Given the description of an element on the screen output the (x, y) to click on. 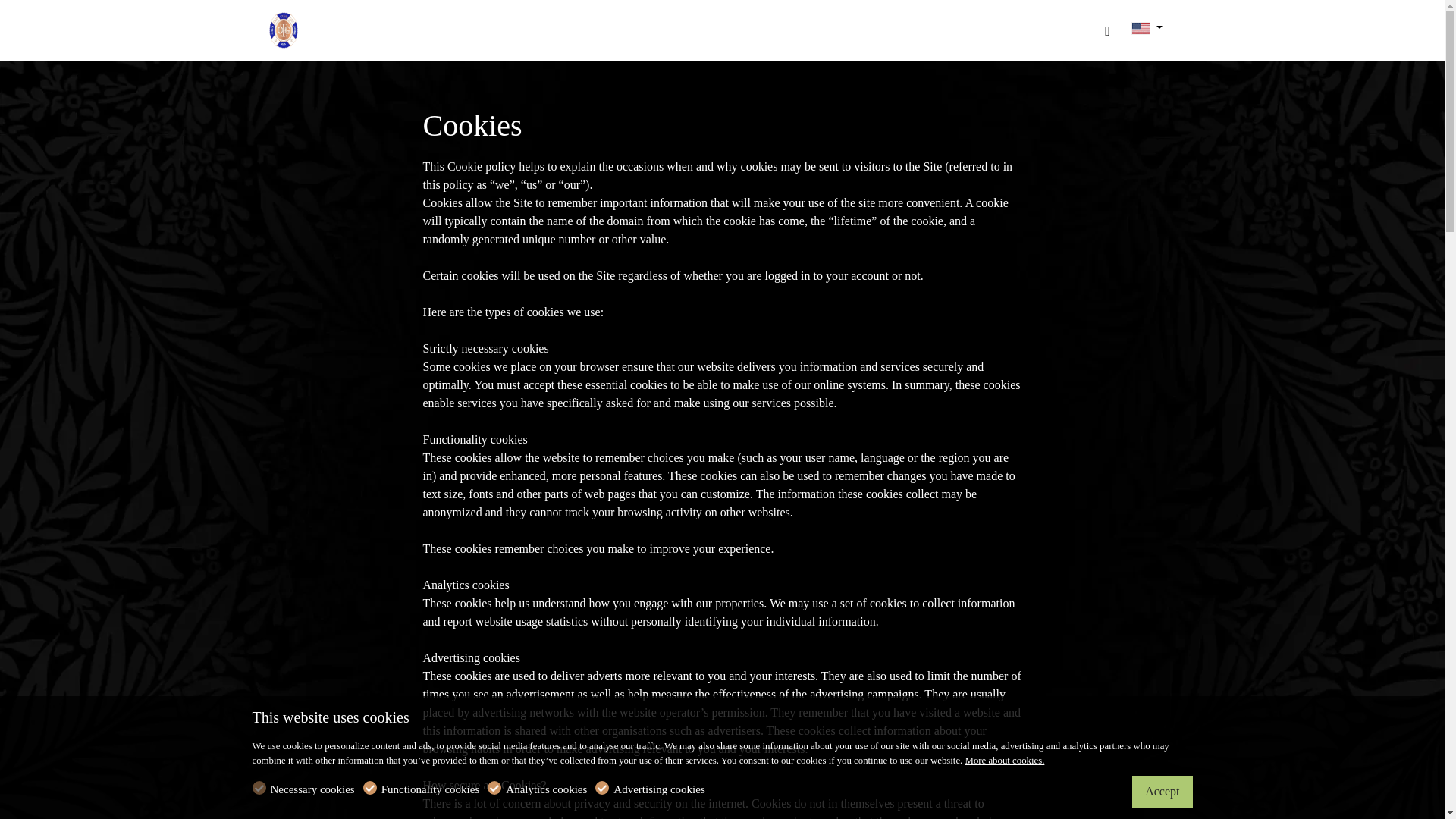
Old Tom Gin 1821 (331, 29)
en (1140, 28)
